Given the description of an element on the screen output the (x, y) to click on. 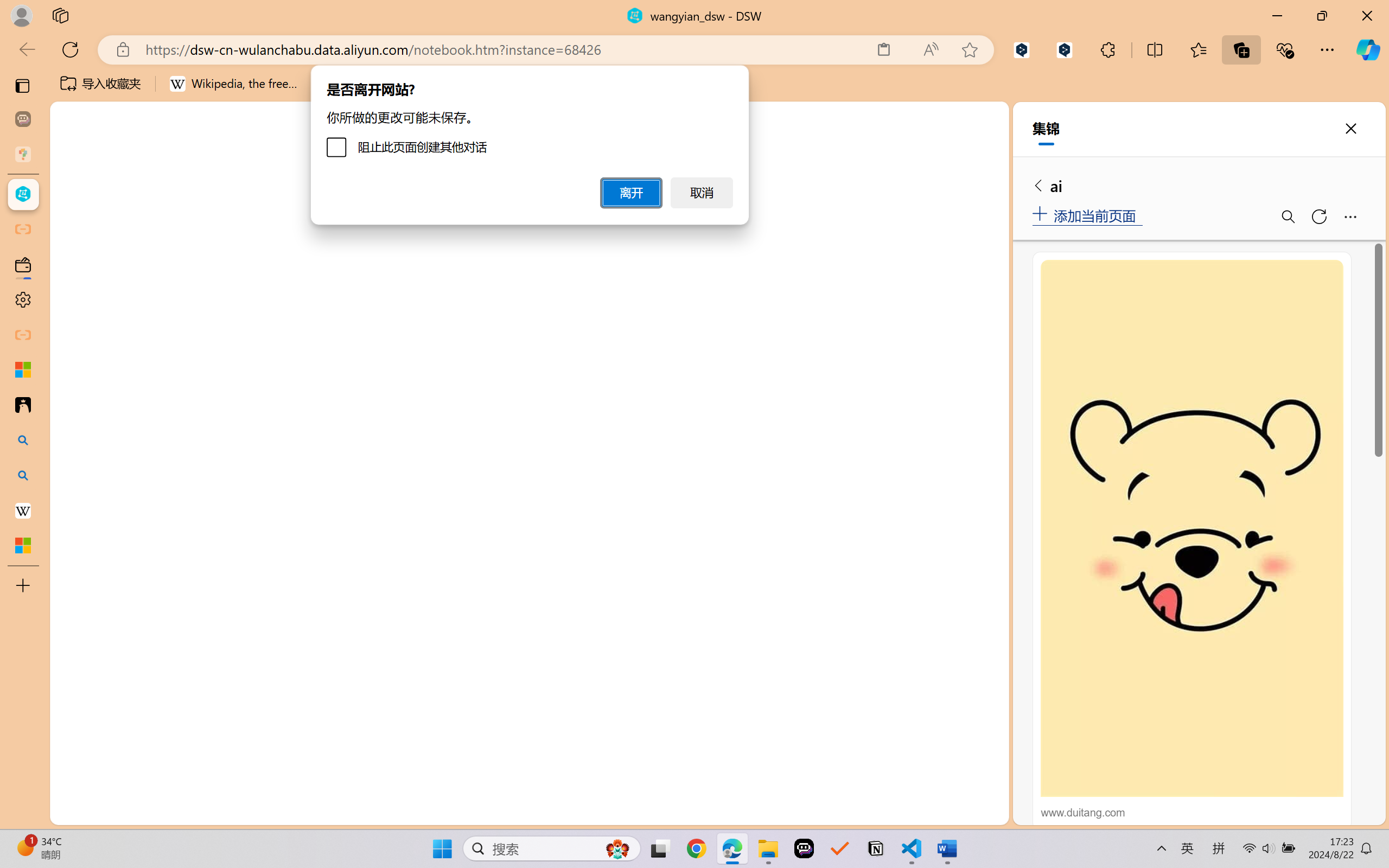
Timeline Section (179, 791)
Terminal 3 bash (949, 635)
Views and More Actions... (934, 565)
Application Menu (73, 194)
wangyian_dsw - DSW (22, 194)
